Given the description of an element on the screen output the (x, y) to click on. 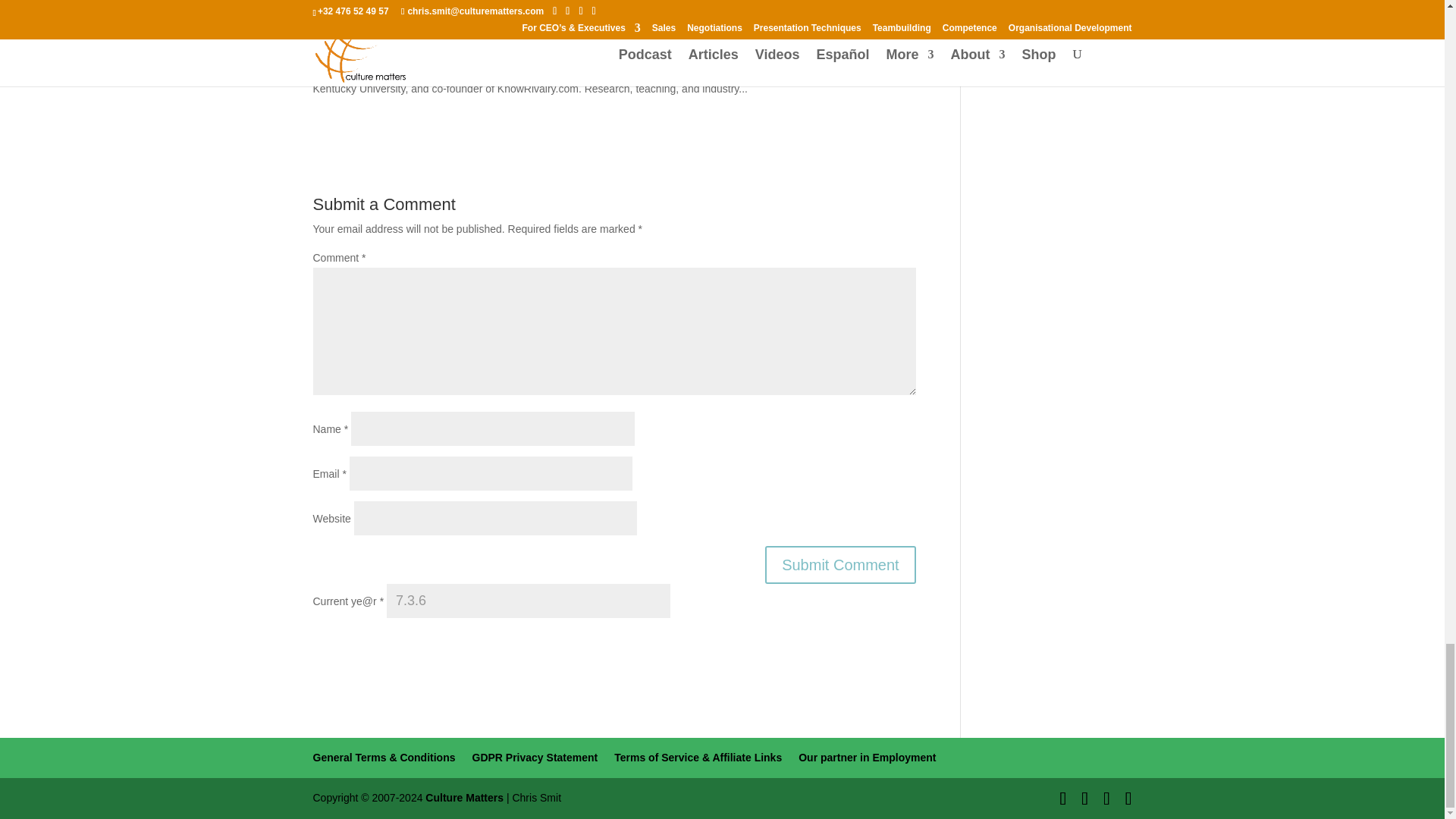
7.3.6 (528, 600)
046: Why Culture Plays a Role in Sports; Susan Salzbrenner (475, 29)
Submit Comment (840, 564)
